Given the description of an element on the screen output the (x, y) to click on. 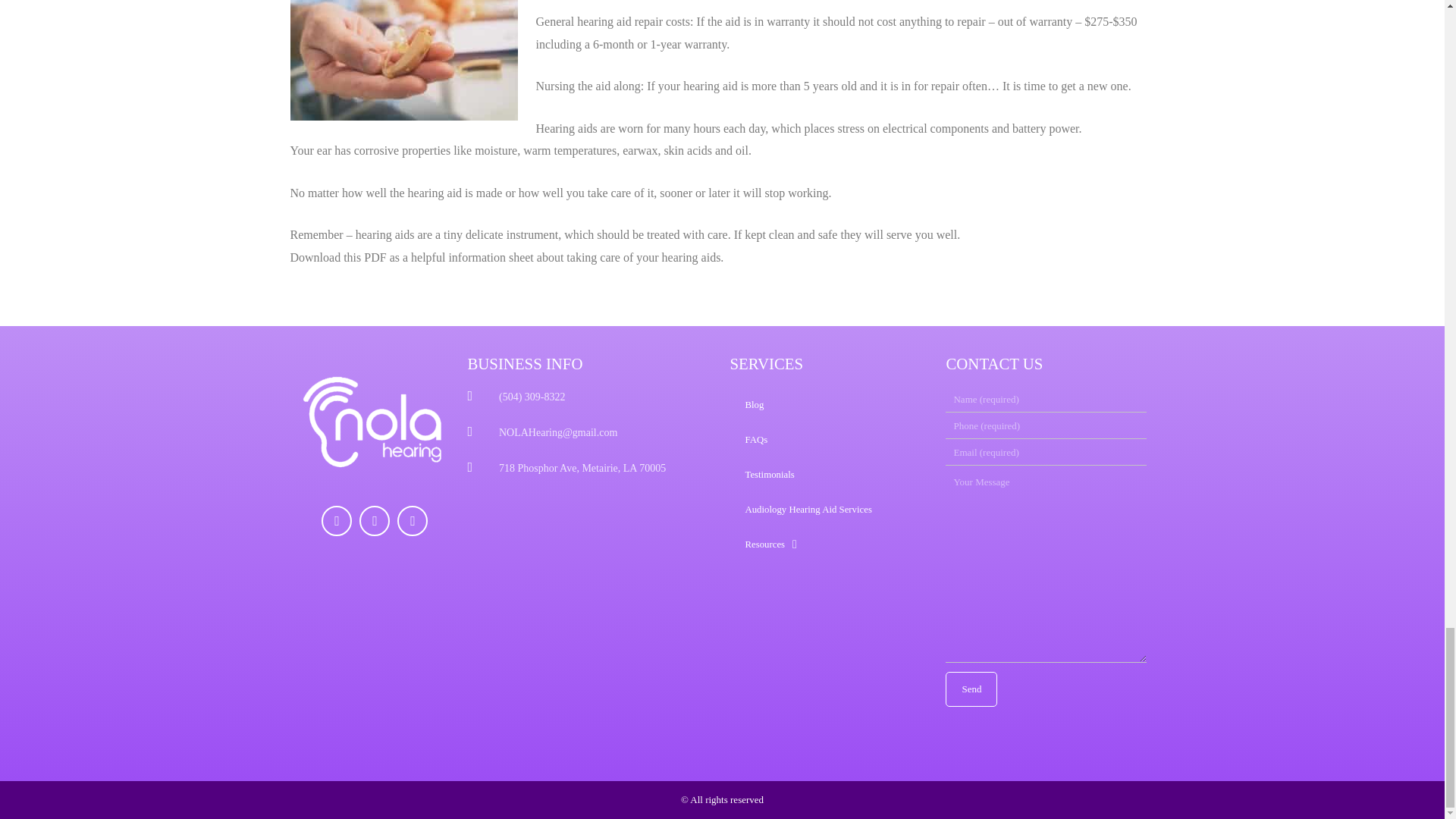
Send (970, 688)
